Given the description of an element on the screen output the (x, y) to click on. 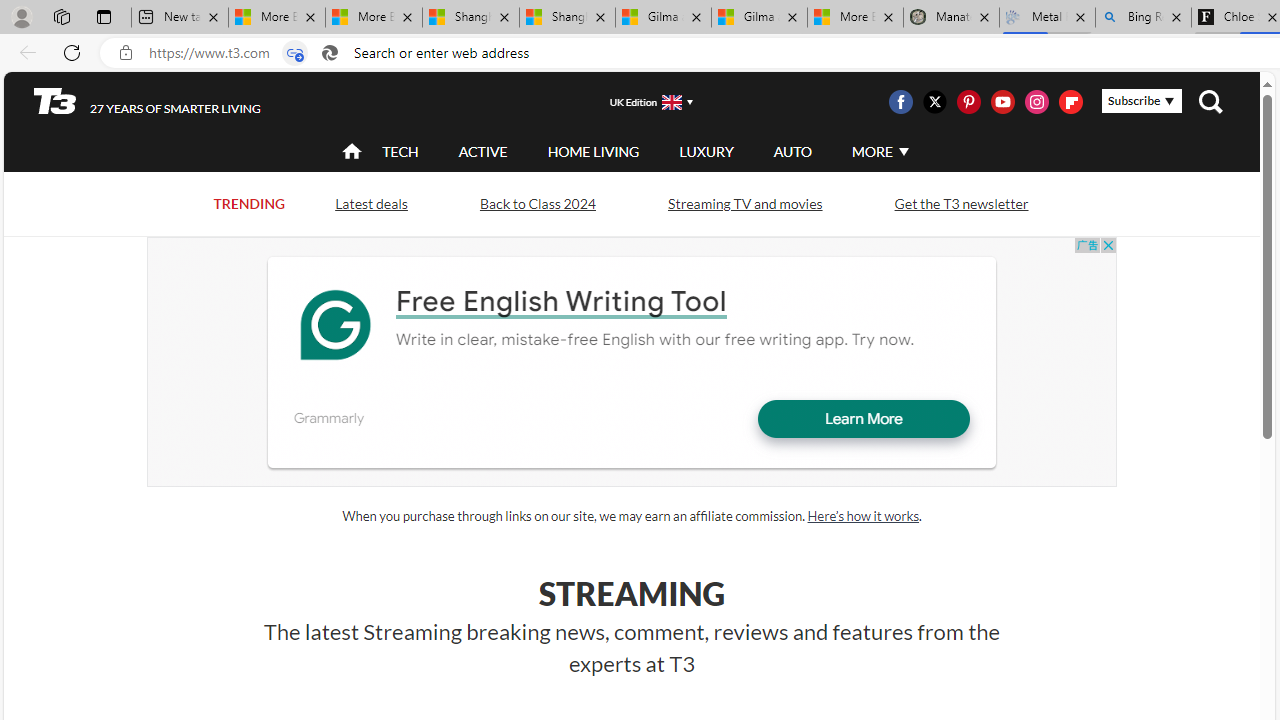
Subscribe (1141, 101)
T3 (55, 100)
Back to Class 2024 (537, 204)
ACTIVE (483, 151)
Visit us on Facebook (900, 101)
HOME LIVING (593, 151)
Back to Class 2024 (537, 202)
Visit us on Pintrest (968, 101)
Class: icon-svg (1070, 101)
